Given the description of an element on the screen output the (x, y) to click on. 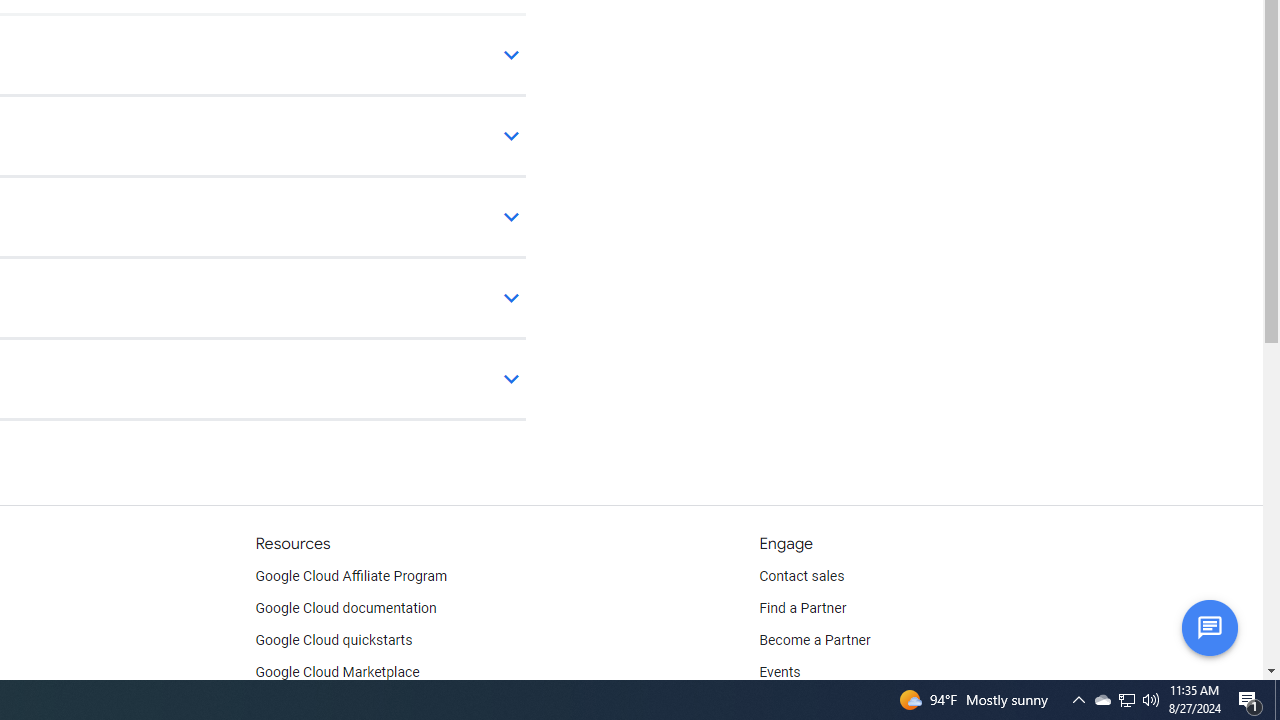
Events (780, 672)
Button to activate chat (1209, 627)
Become a Partner (814, 640)
Google Cloud quickstarts (333, 640)
Google Cloud Affiliate Program (351, 576)
Find a Partner (803, 608)
Google Cloud Marketplace (336, 672)
Google Cloud documentation (345, 608)
Contact sales (801, 576)
